Given the description of an element on the screen output the (x, y) to click on. 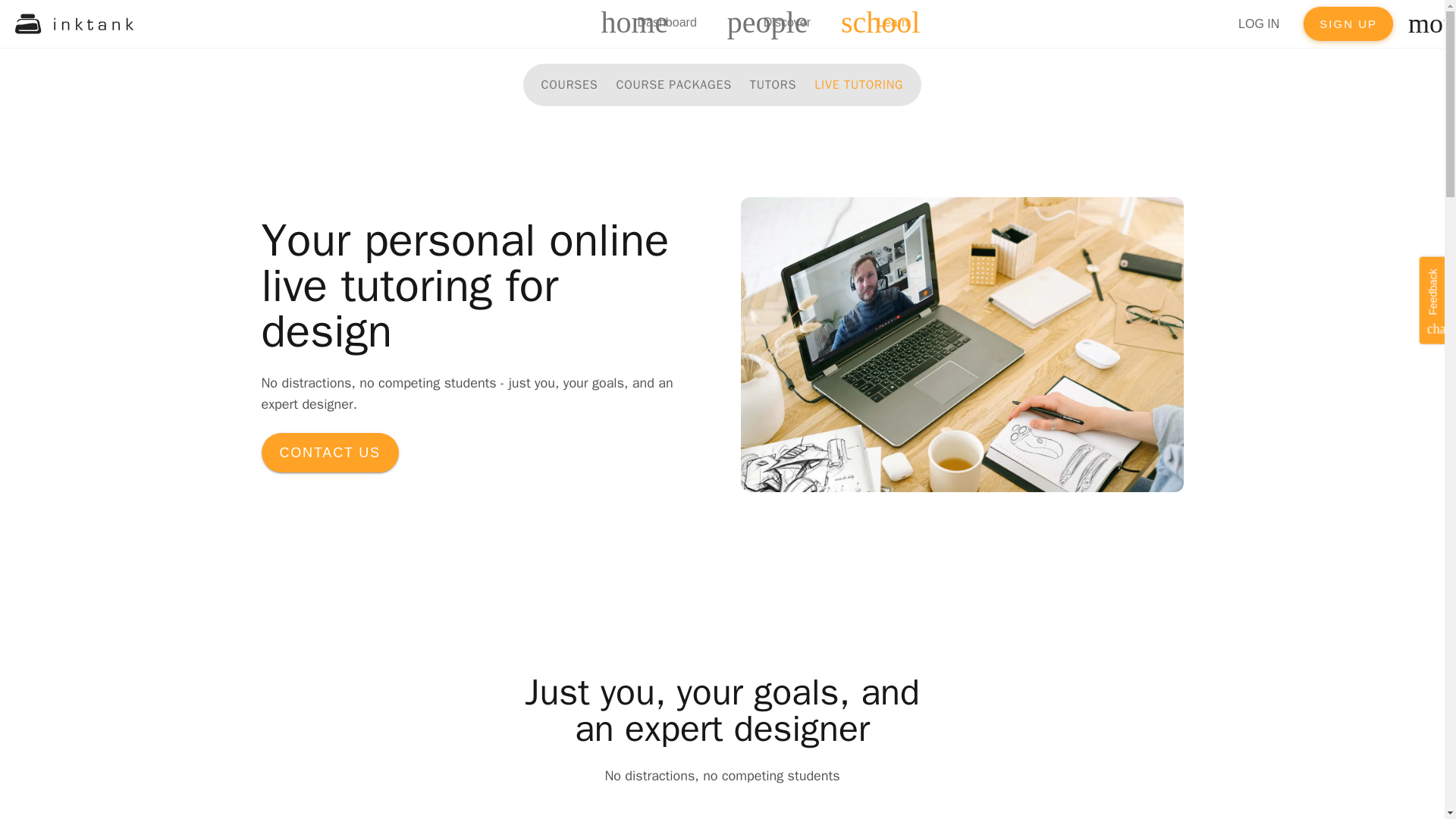
CONTACT US (877, 24)
TUTORS (328, 452)
Discover (772, 84)
LIVE TUTORING (771, 24)
COURSE PACKAGES (857, 84)
SIGN UP (673, 84)
COURSES (650, 24)
Learn (1348, 23)
Home (569, 84)
